Given the description of an element on the screen output the (x, y) to click on. 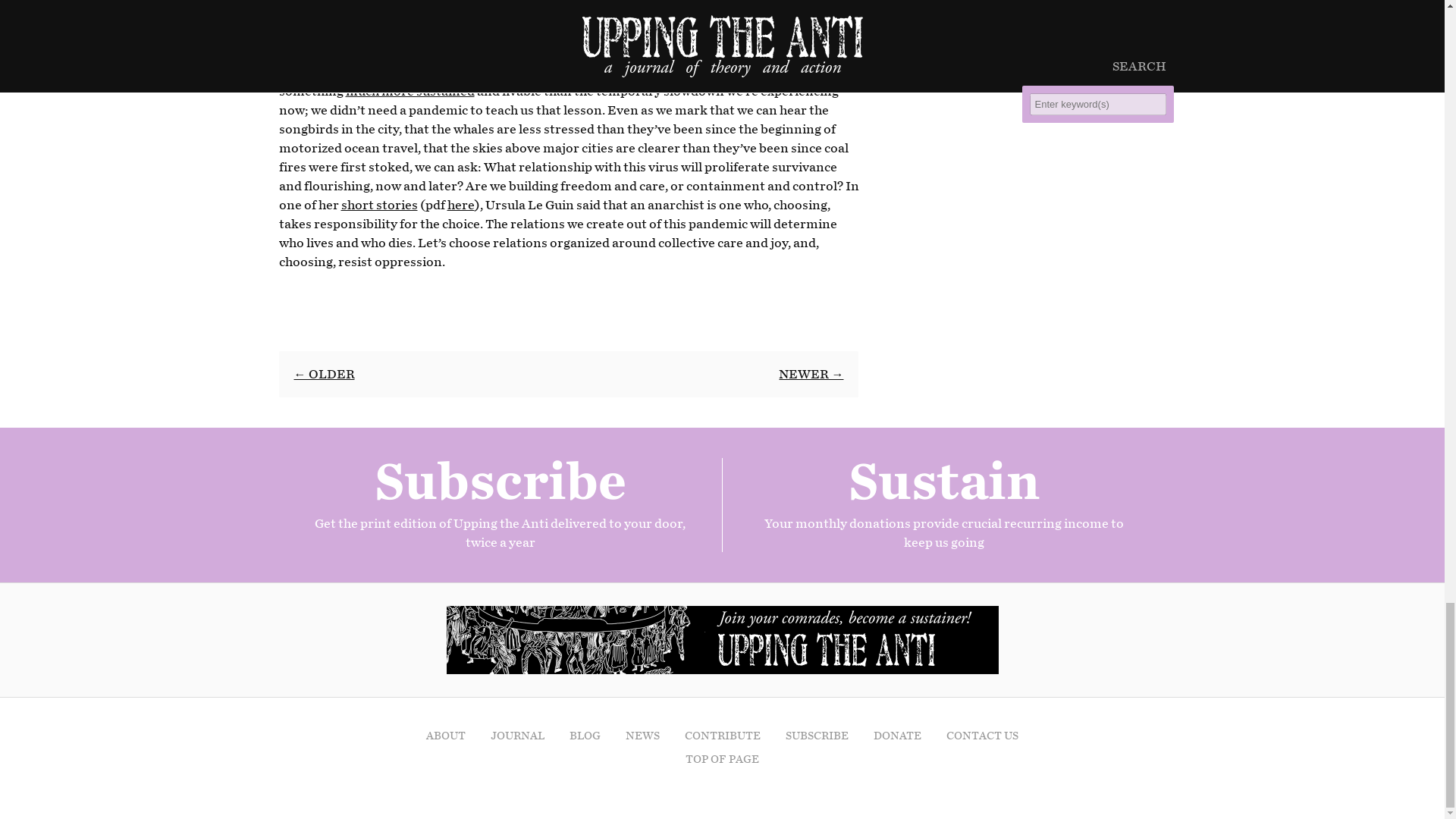
much more sustained (410, 91)
here (460, 205)
short stories (378, 205)
